Given the description of an element on the screen output the (x, y) to click on. 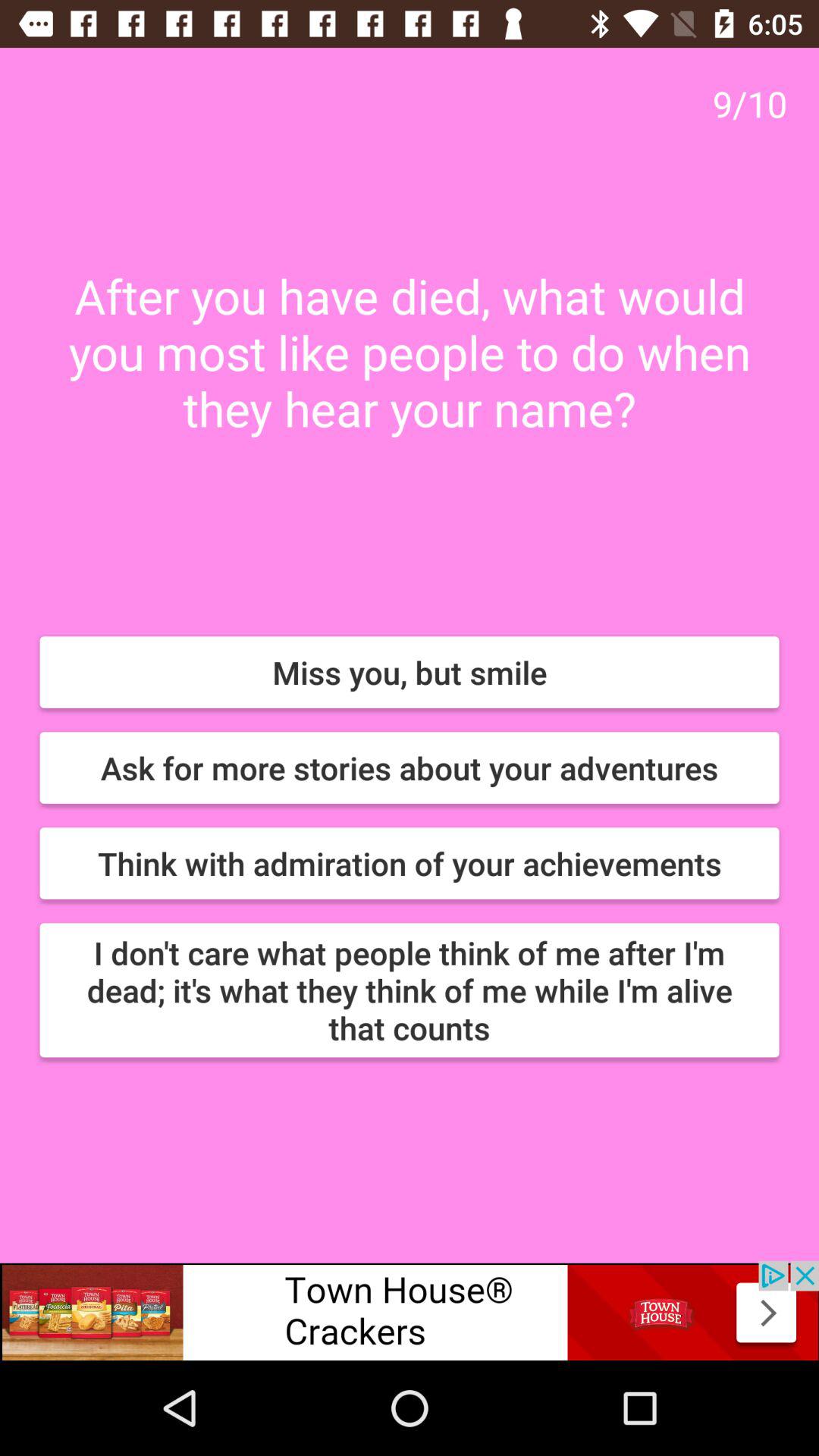
follow the banner (409, 1310)
